Given the description of an element on the screen output the (x, y) to click on. 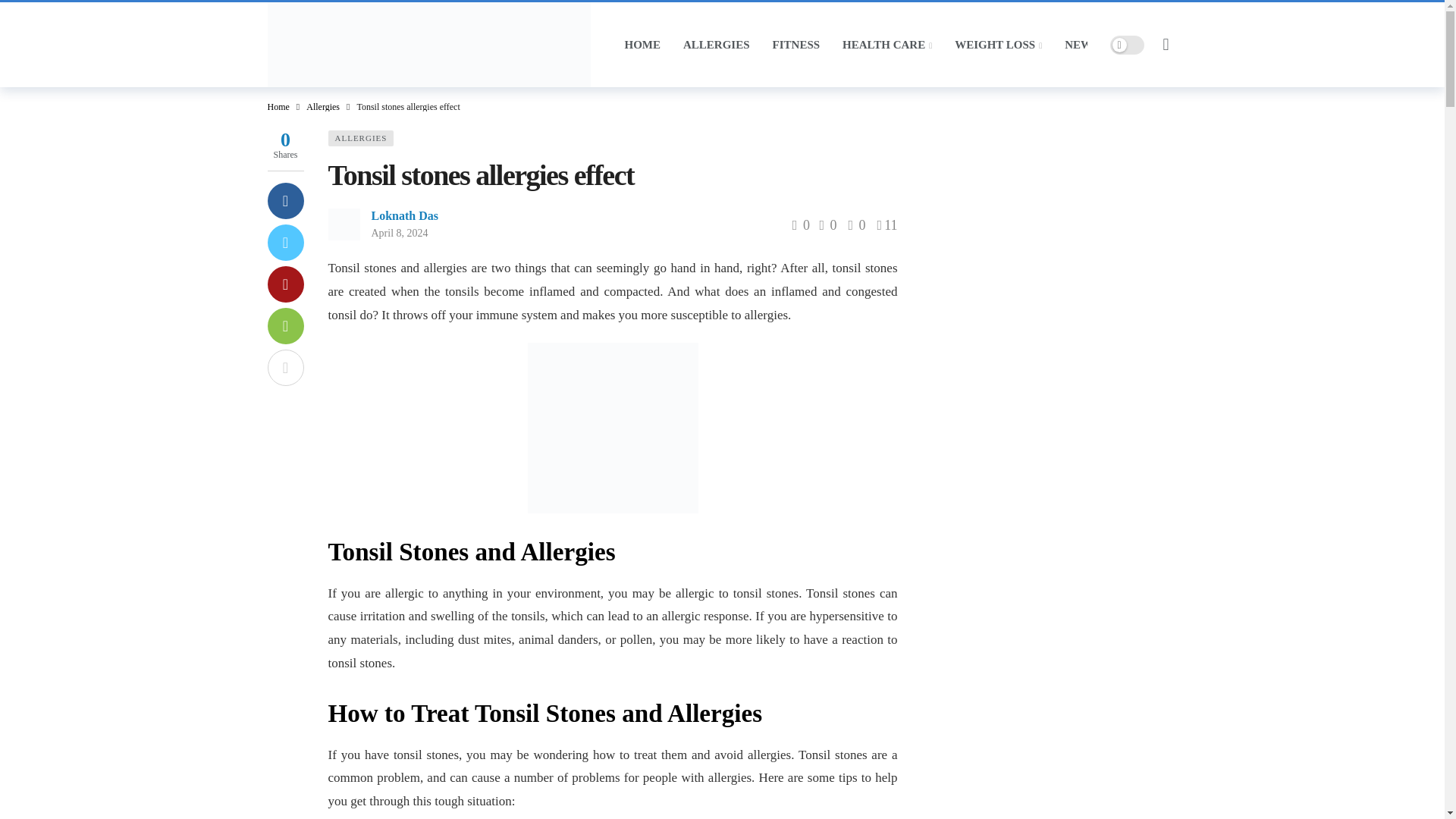
HEALTH CARE (887, 44)
Loknath Das (404, 215)
ALLERGIES (360, 138)
FITNESS (796, 44)
0 (802, 224)
0 (855, 224)
April 8, 2024 (399, 233)
HOME (641, 44)
ALLERGIES (716, 44)
NEWS (1080, 44)
Home (277, 106)
WEIGHT LOSS (997, 44)
Allergies (322, 106)
0 (826, 224)
